Given the description of an element on the screen output the (x, y) to click on. 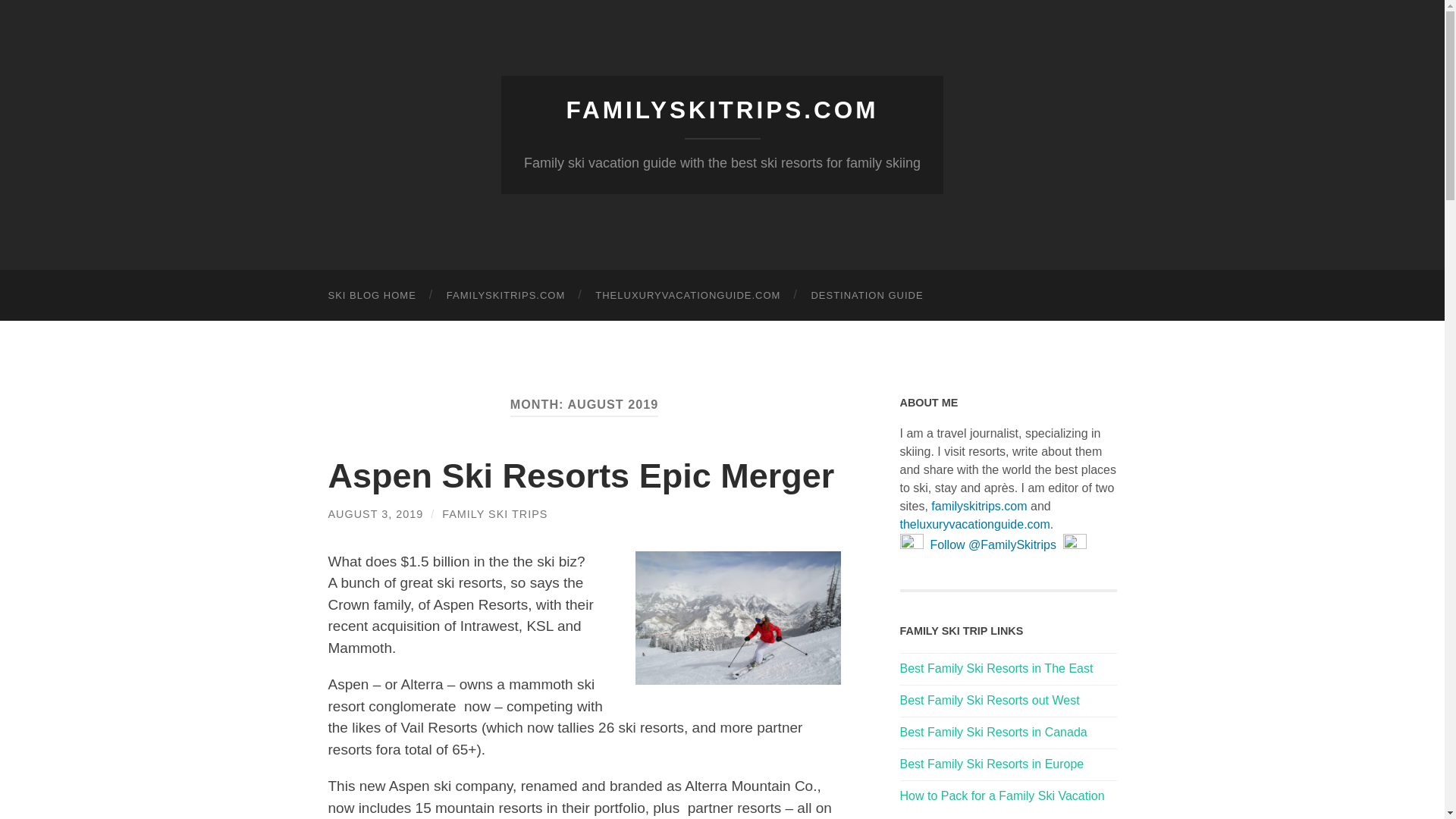
AUGUST 3, 2019 (375, 513)
familyskitrips.com (978, 505)
Best Family Ski Resorts in Canada (992, 731)
Aspen Ski Resorts Epic Merger (580, 475)
THELUXURYVACATIONGUIDE.COM (686, 295)
Posts by Family Ski Trips (494, 513)
Best Family Ski Resorts out West (988, 699)
theluxuryvacationguide.com (974, 523)
SKI BLOG HOME (371, 295)
DESTINATION GUIDE (865, 295)
